Given the description of an element on the screen output the (x, y) to click on. 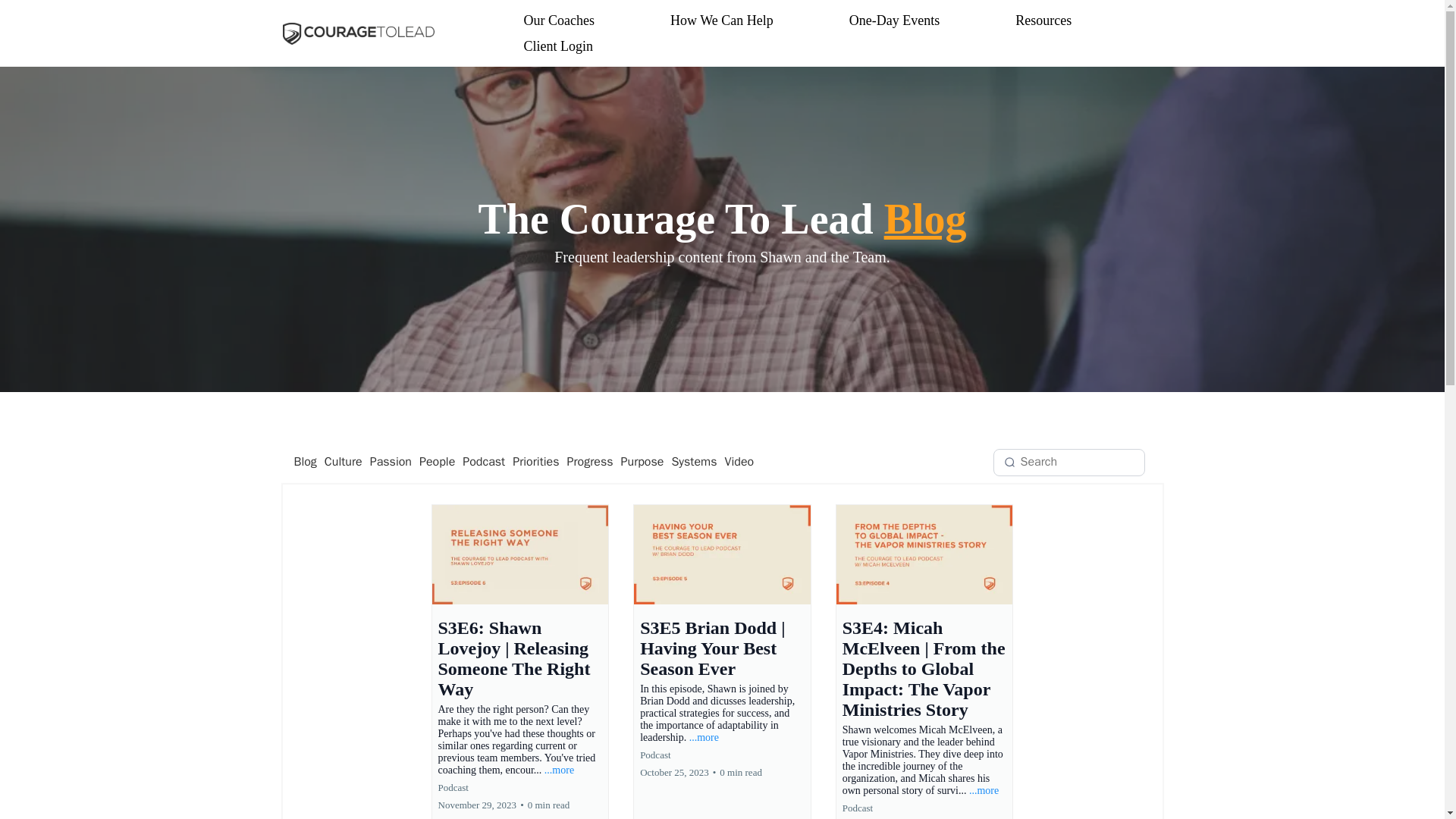
Resources (1042, 20)
People (436, 461)
Culture (343, 461)
Purpose (642, 461)
...more (558, 769)
Priorities (535, 461)
One-Day Events (893, 20)
Systems (693, 461)
...more (703, 737)
Client Login (557, 45)
